Given the description of an element on the screen output the (x, y) to click on. 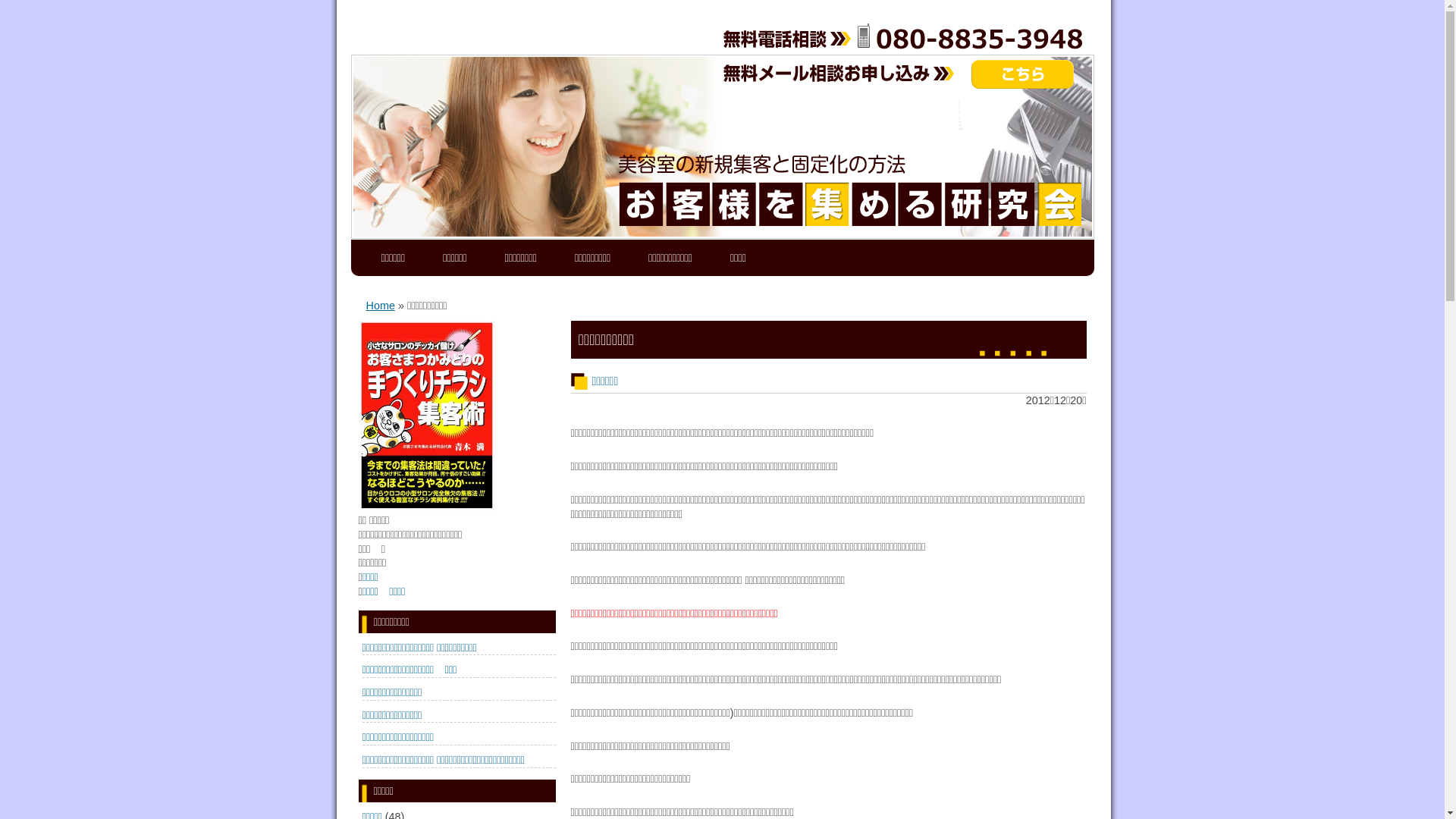
Home Element type: text (379, 305)
